Given the description of an element on the screen output the (x, y) to click on. 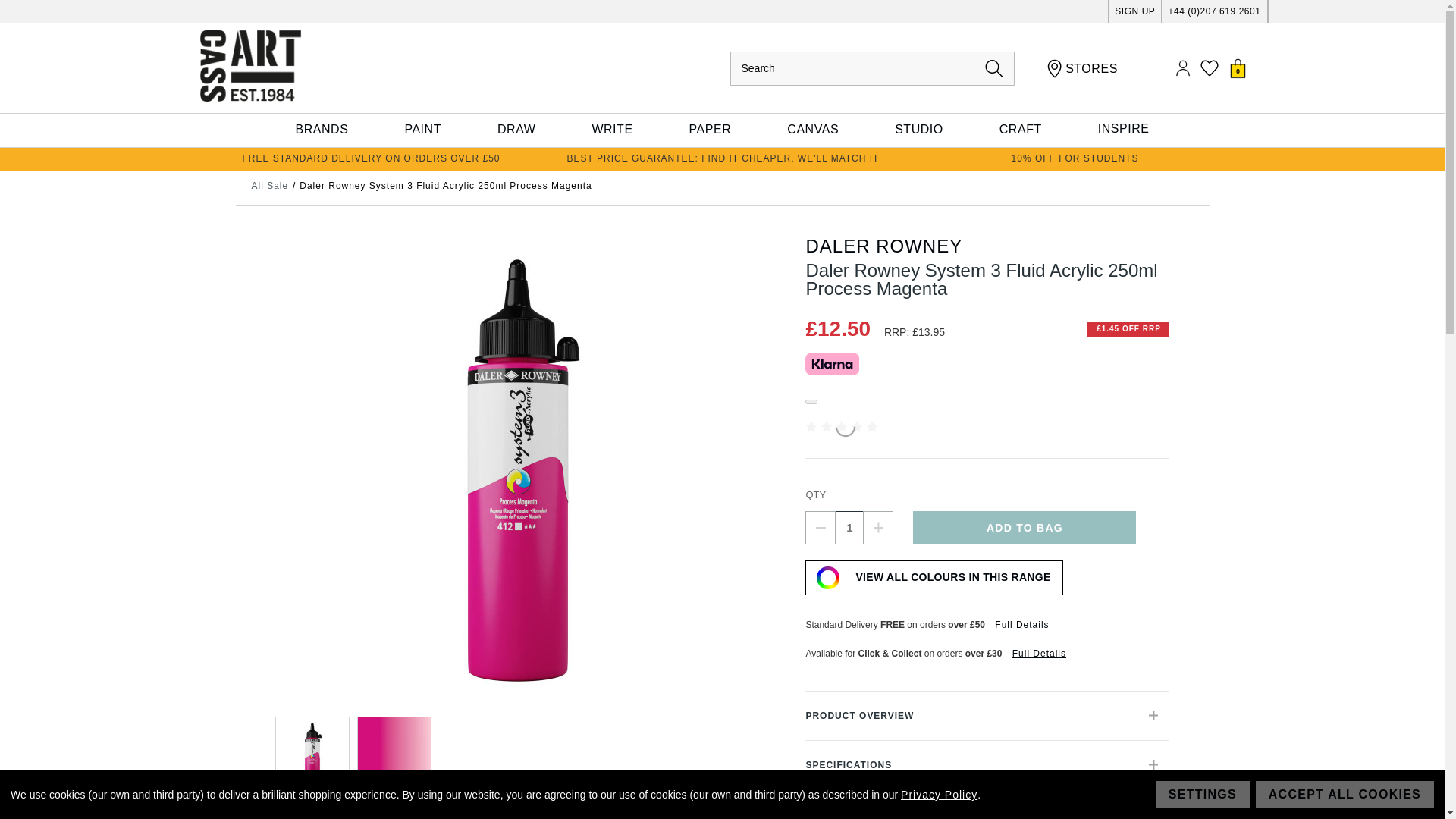
Add to Bag (1023, 527)
Cass Art (249, 65)
 Daler Rowney System 3 Fluid Acrylic 250ml Process Magenta  (393, 753)
BRANDS (322, 130)
SIGN UP (1134, 11)
STORES (1082, 67)
 Daler Rowney System 3 Fluid Acrylic 250ml Process Magenta  (312, 753)
